Given the description of an element on the screen output the (x, y) to click on. 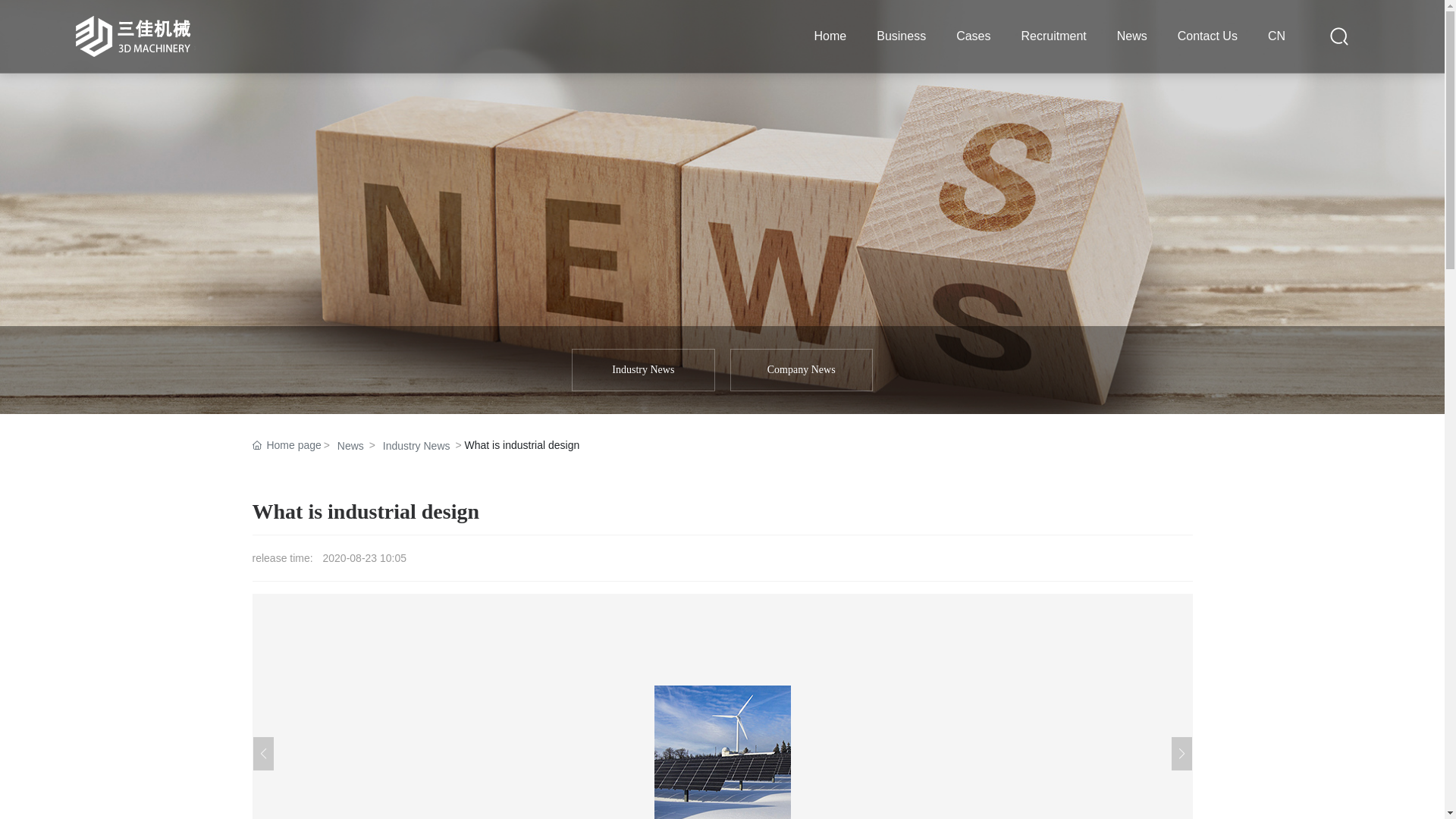
News Element type: hover (722, 207)
News Element type: text (350, 446)
Home page Element type: text (285, 445)
Home Element type: text (830, 36)
News Element type: text (1132, 36)
Recruitment Element type: text (1052, 36)
CN Element type: text (1276, 36)
Contact Us Element type: text (1207, 36)
Industry News Element type: text (642, 369)
Industry News Element type: text (416, 446)
Company News Element type: text (801, 369)
Cases Element type: text (973, 36)
Business Element type: text (900, 36)
